Given the description of an element on the screen output the (x, y) to click on. 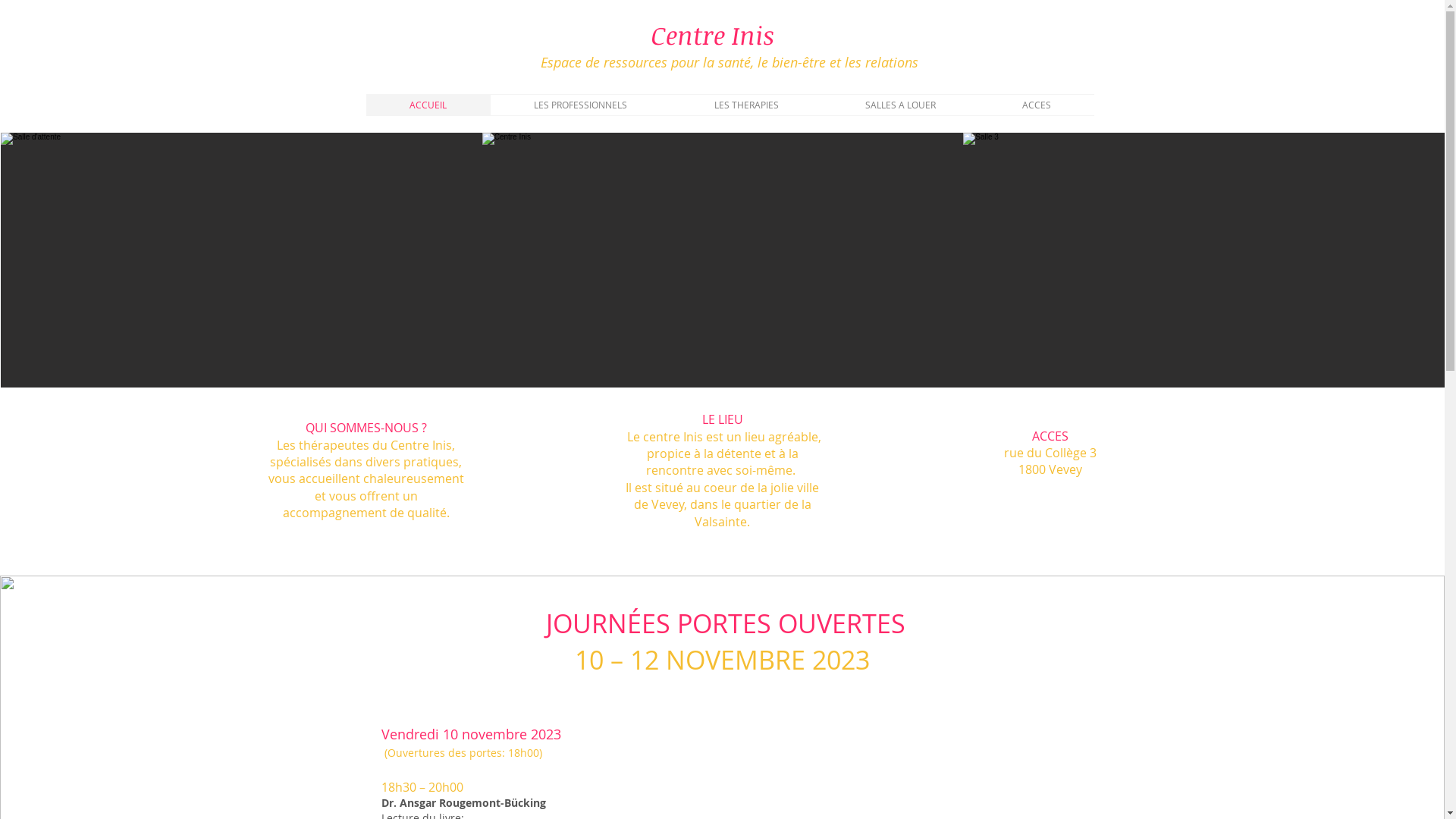
Centre Inis Element type: text (711, 35)
ACCUEIL Element type: text (427, 104)
QUI SOMMES-NOUS ? Element type: text (365, 427)
LES THERAPIES Element type: text (745, 104)
SALLES A LOUER Element type: text (900, 104)
ACCES Element type: text (1035, 104)
LES PROFESSIONNELS Element type: text (579, 104)
ACCES Element type: text (1050, 435)
